Given the description of an element on the screen output the (x, y) to click on. 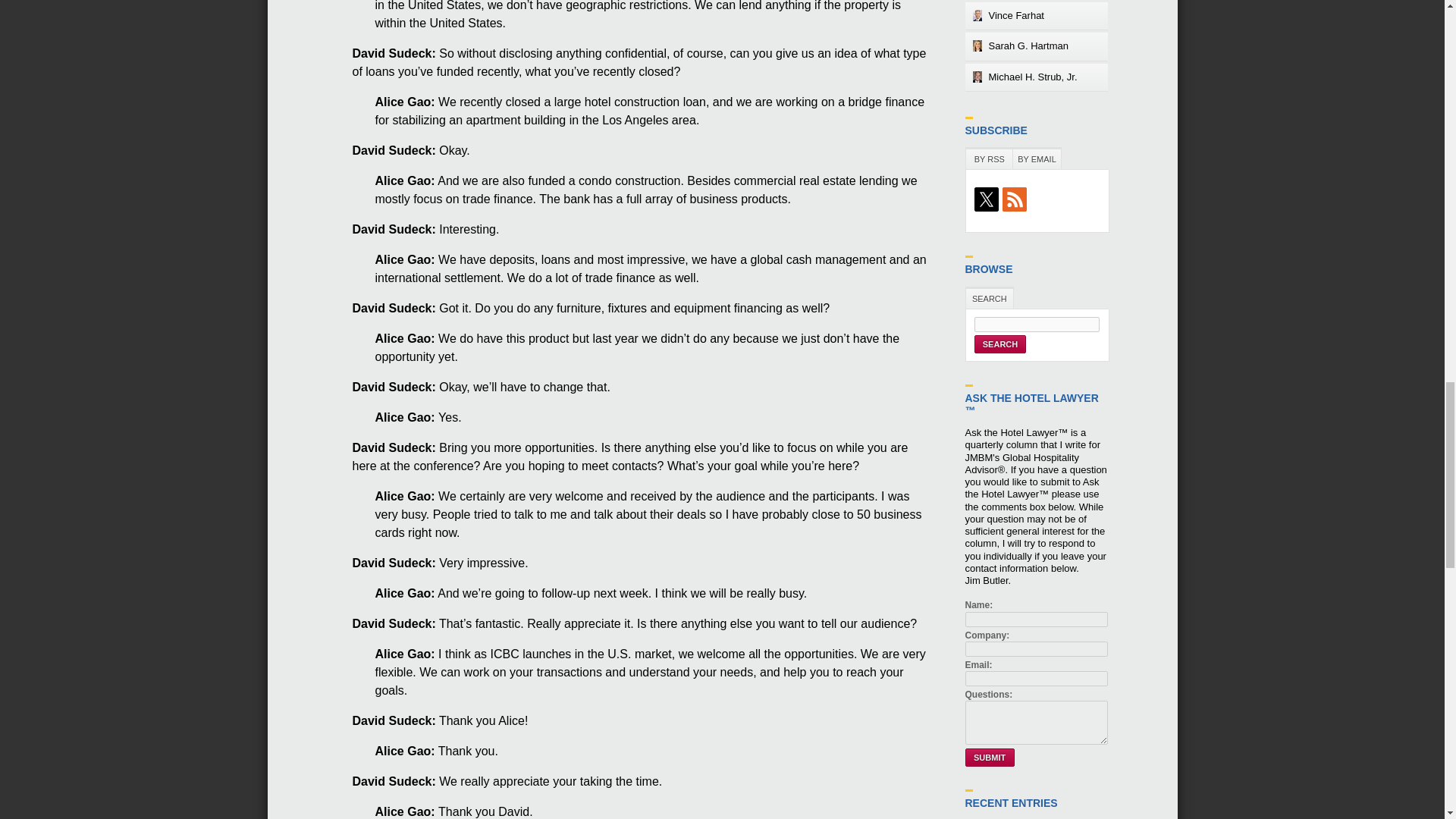
Twitter (988, 200)
Feed (1016, 200)
